Given the description of an element on the screen output the (x, y) to click on. 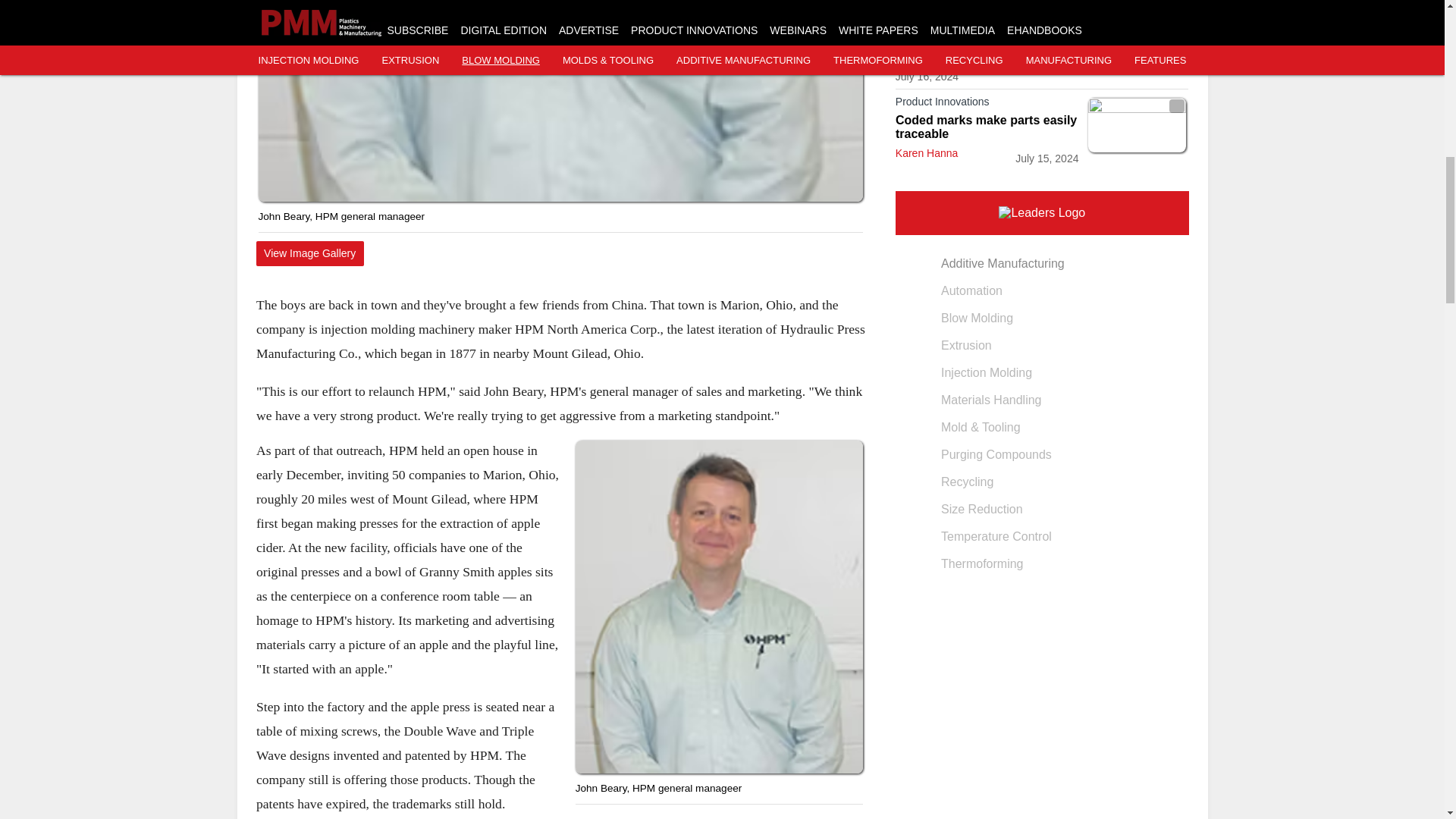
John Beary, HPM general manageer (559, 100)
View Image Gallery (310, 253)
